Given the description of an element on the screen output the (x, y) to click on. 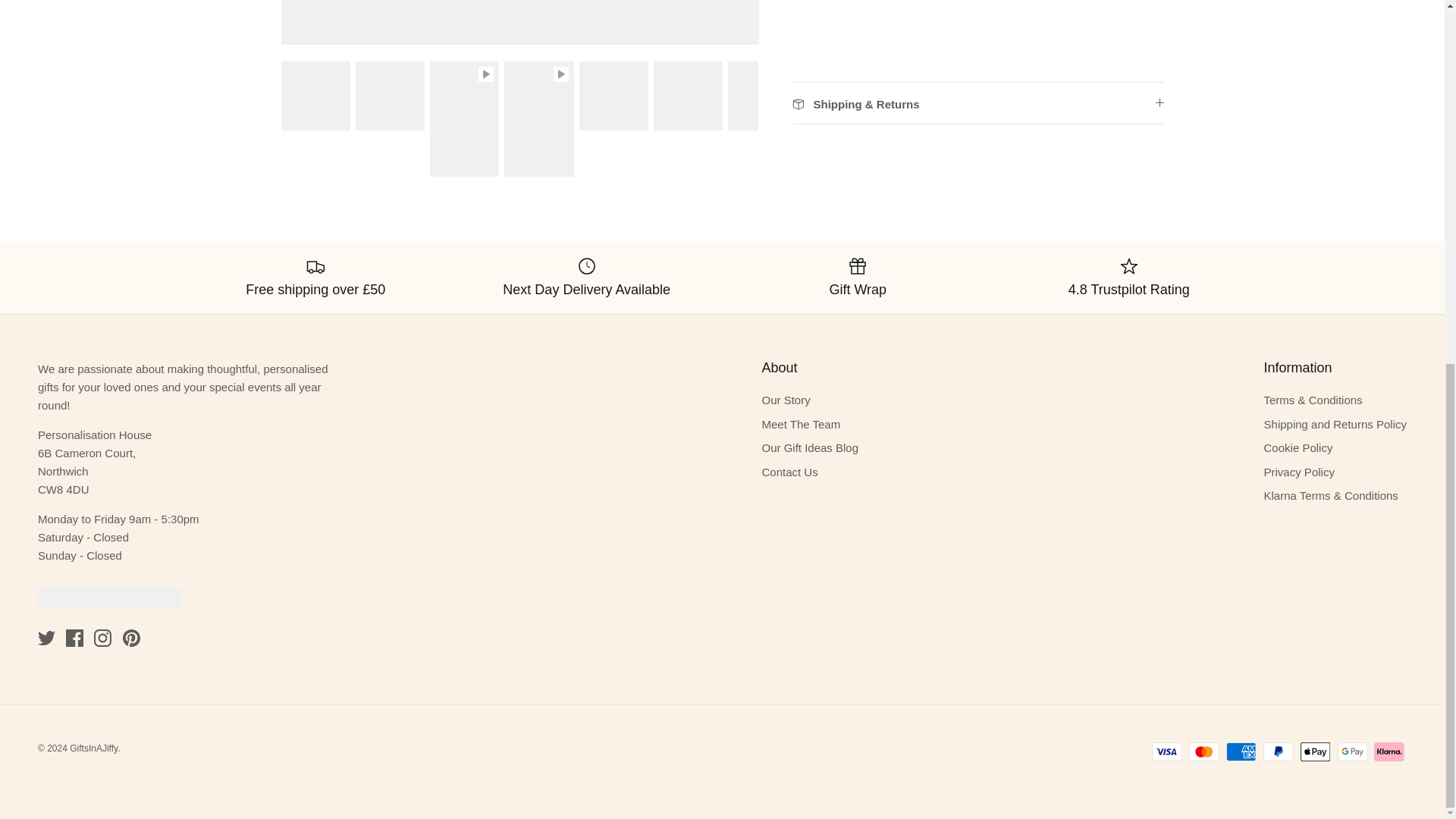
Visa (1166, 751)
Pinterest (130, 638)
Twitter (46, 638)
Instagram (103, 638)
Facebook (73, 638)
